Given the description of an element on the screen output the (x, y) to click on. 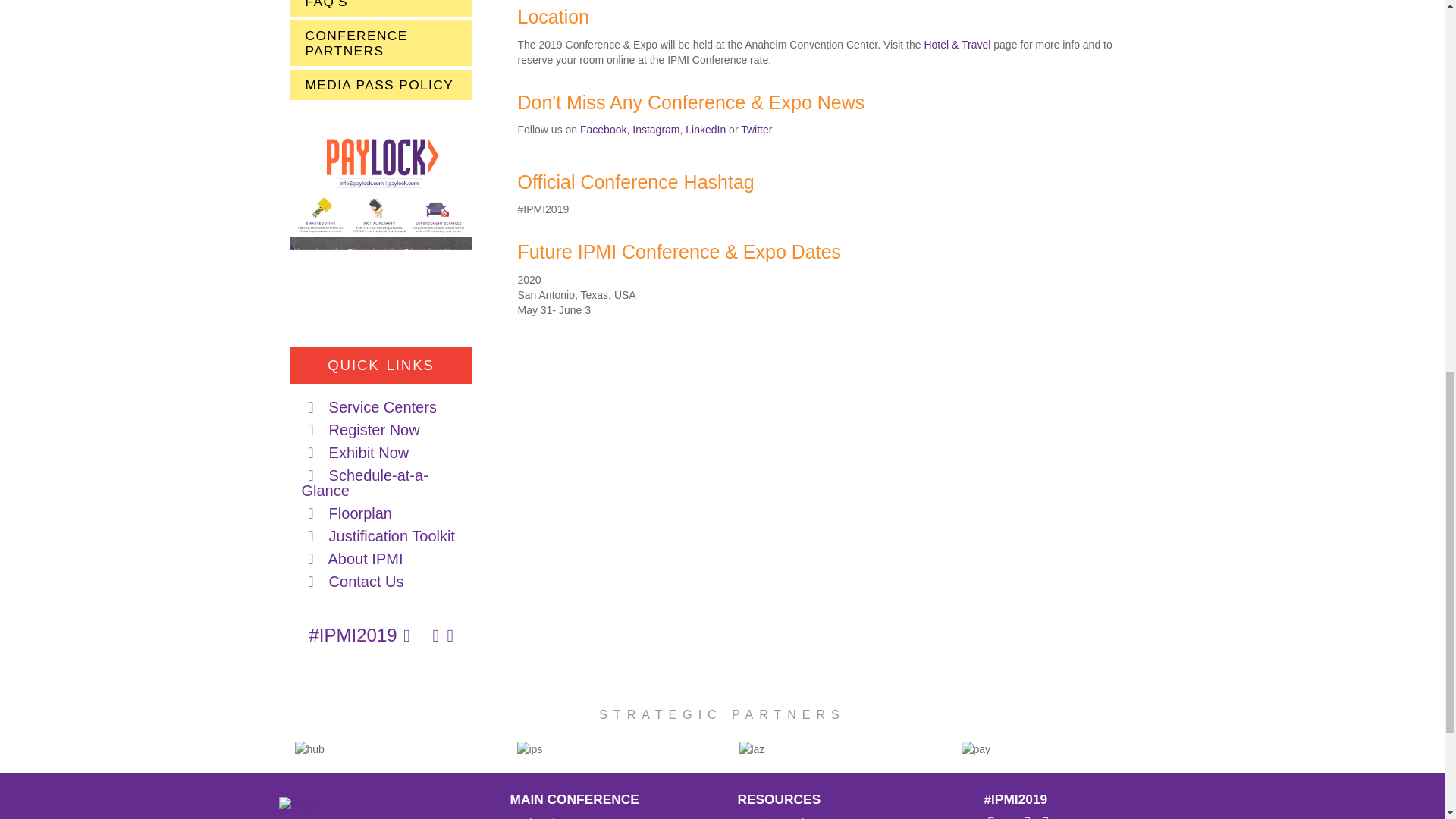
CONFERENCE PARTNERS (380, 43)
Twitter (756, 129)
MEDIA PASS POLICY (380, 84)
LinkedIn (705, 129)
Instagram (655, 129)
Facebook (602, 129)
FAQ'S (380, 8)
